Given the description of an element on the screen output the (x, y) to click on. 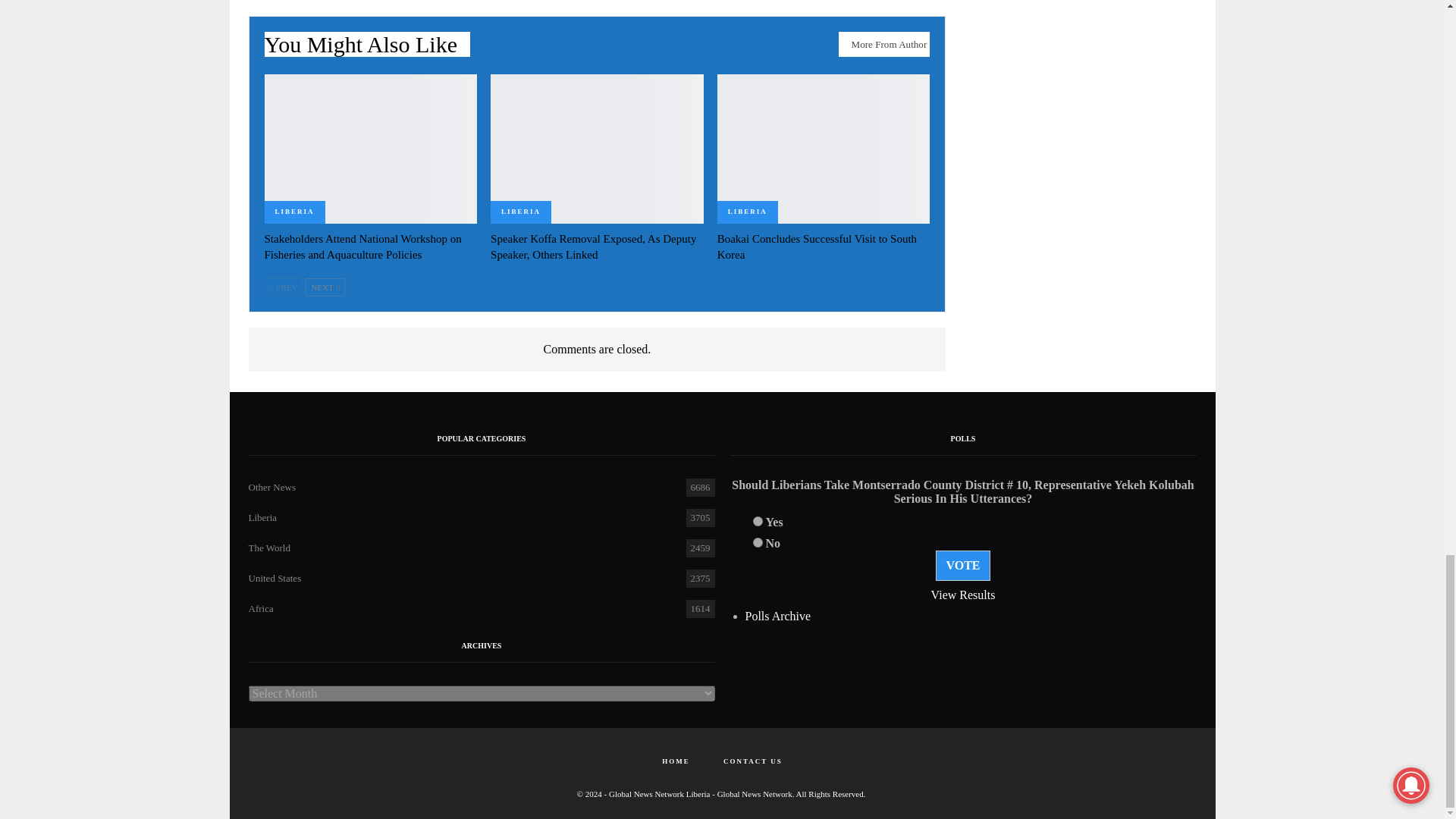
Boakai Concludes Successful Visit to South Korea (823, 148)
377 (756, 542)
Next (325, 287)
376 (756, 521)
More From Author (884, 43)
You Might Also Like (366, 47)
LIBERIA (293, 211)
